Given the description of an element on the screen output the (x, y) to click on. 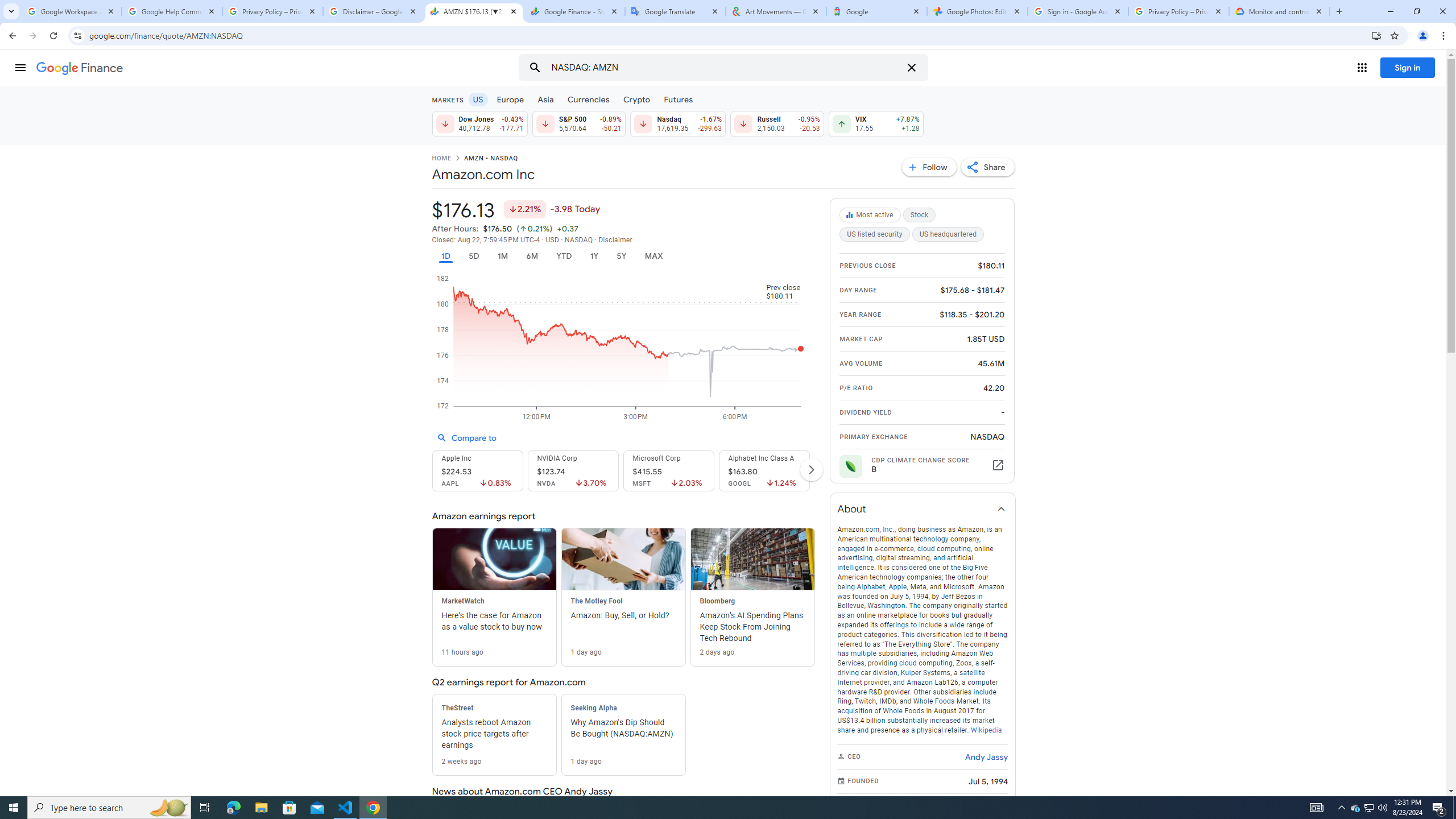
Folders (560, 127)
This PC (288, 235)
Back (59, 54)
Browse (288, 321)
Print (59, 504)
Save As (59, 380)
OneDrive (288, 183)
Account (59, 722)
Options (59, 753)
